Given the description of an element on the screen output the (x, y) to click on. 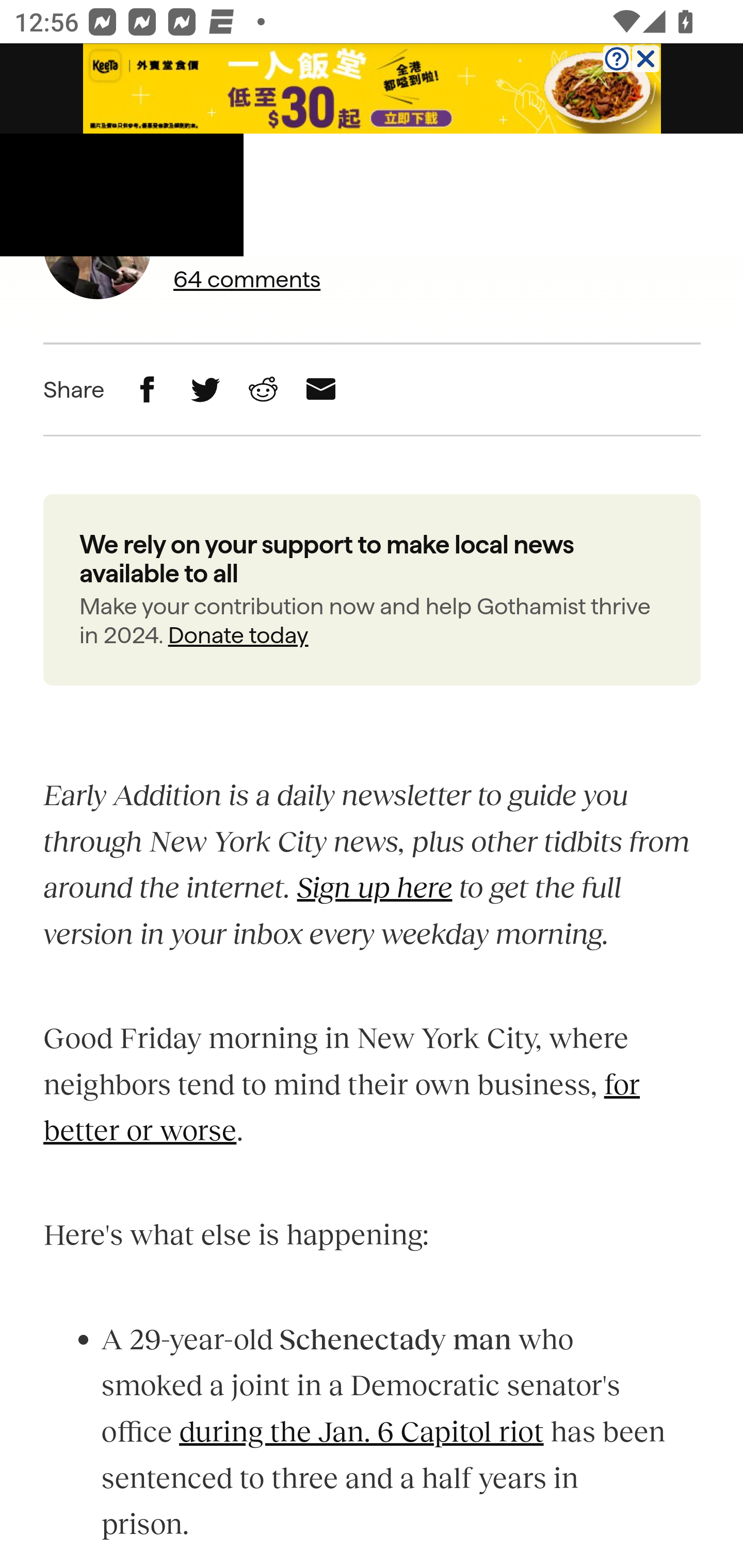
64 comments (288, 279)
Facebook (147, 390)
Twitter (205, 390)
Reddit (262, 390)
Email (320, 390)
Donate today (237, 635)
Sign up here (374, 888)
for better or worse (341, 1108)
during the Jan. 6 Capitol riot (361, 1431)
